Given the description of an element on the screen output the (x, y) to click on. 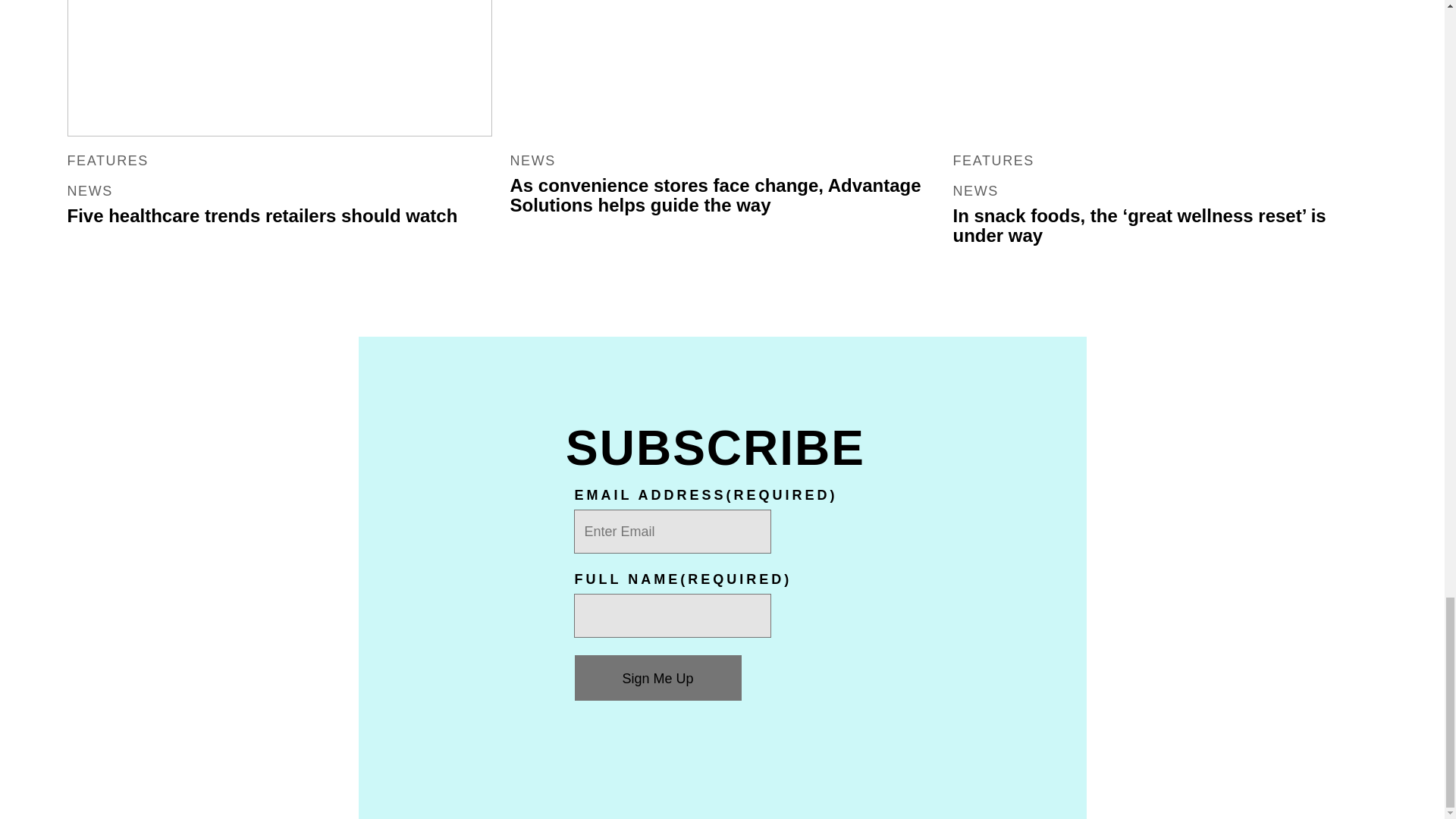
Five healthcare trends retailers should watch (261, 215)
Sign Me Up (658, 678)
Sign Me Up (658, 678)
Five healthcare trends retailers should watch (279, 68)
Five healthcare trends retailers should watch (261, 215)
